Given the description of an element on the screen output the (x, y) to click on. 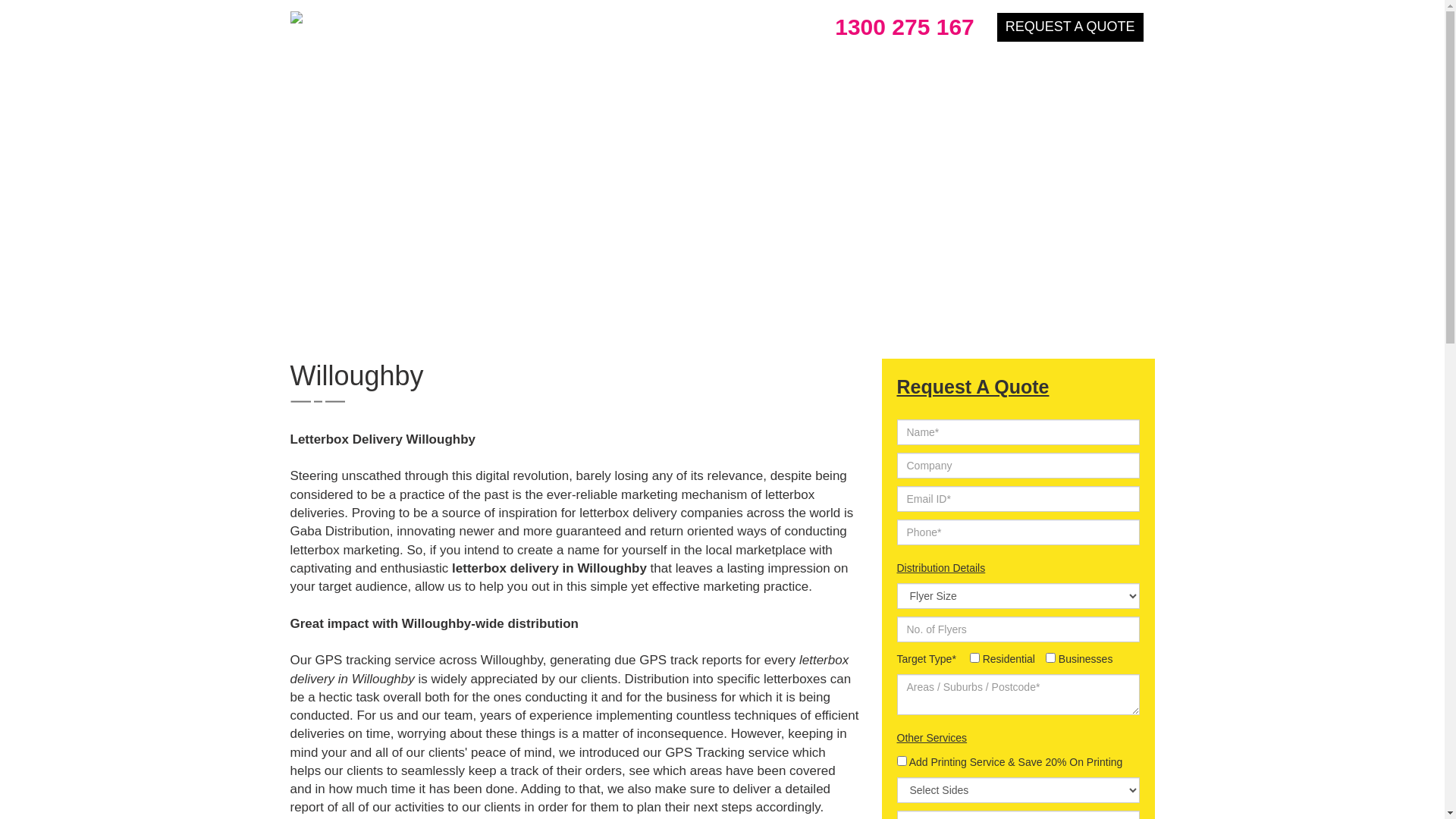
REQUEST A QUOTE Element type: text (1070, 26)
Letterbox Delivery Sydney Element type: hover (389, 17)
1300 275 167 Element type: text (898, 27)
